Given the description of an element on the screen output the (x, y) to click on. 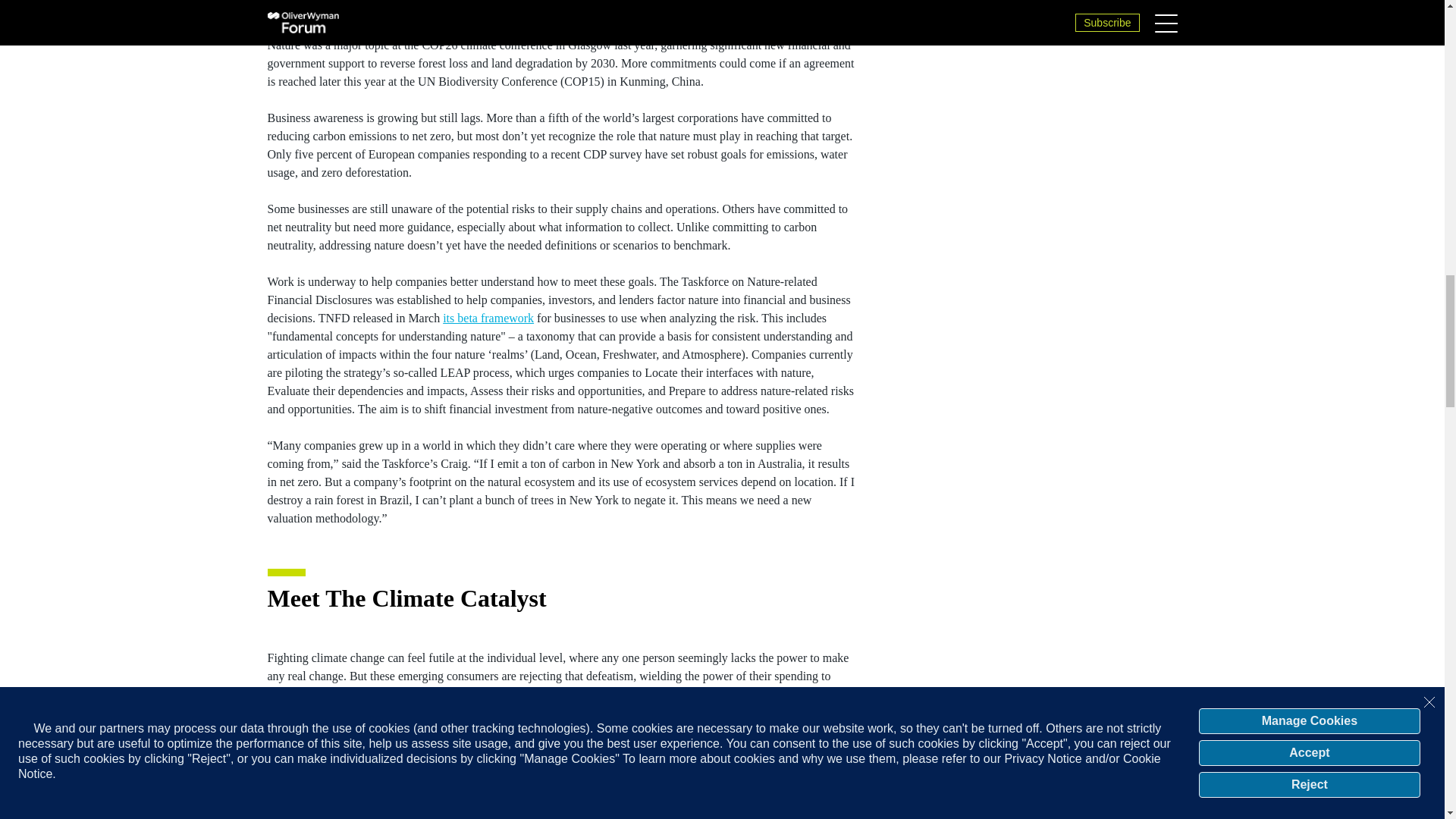
its beta framework  (488, 318)
its beta framework (488, 318)
Climate Catalysts (559, 703)
